Given the description of an element on the screen output the (x, y) to click on. 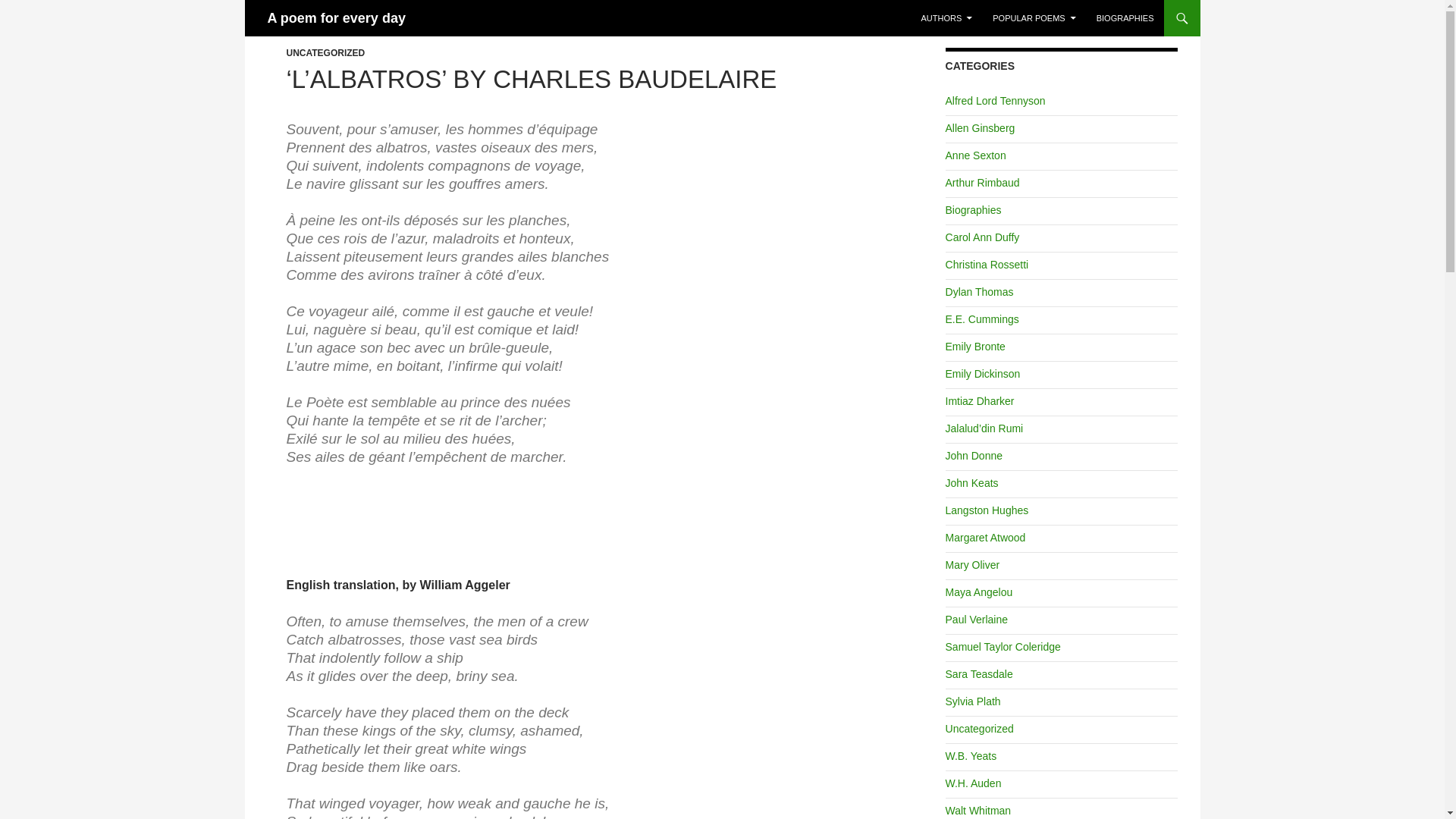
Advertisement (572, 518)
A poem for every day (335, 18)
AUTHORS (946, 18)
POPULAR POEMS (1034, 18)
